Given the description of an element on the screen output the (x, y) to click on. 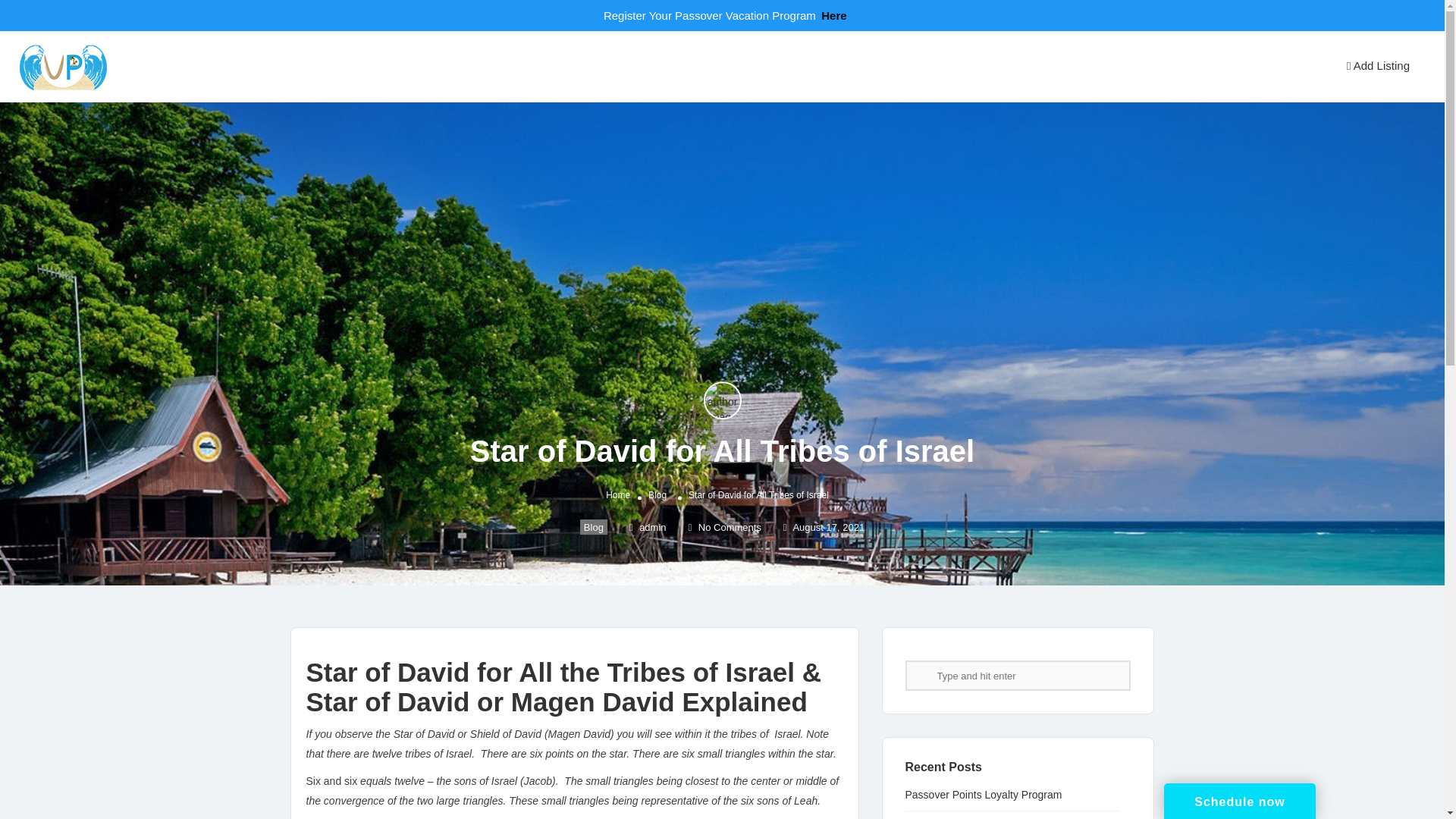
Blog (593, 526)
Sign In (1306, 66)
Blog (656, 494)
No Comments (723, 527)
Passover Points Loyalty Program (991, 794)
Home (617, 494)
Add Listing (1377, 65)
admin (647, 527)
